Given the description of an element on the screen output the (x, y) to click on. 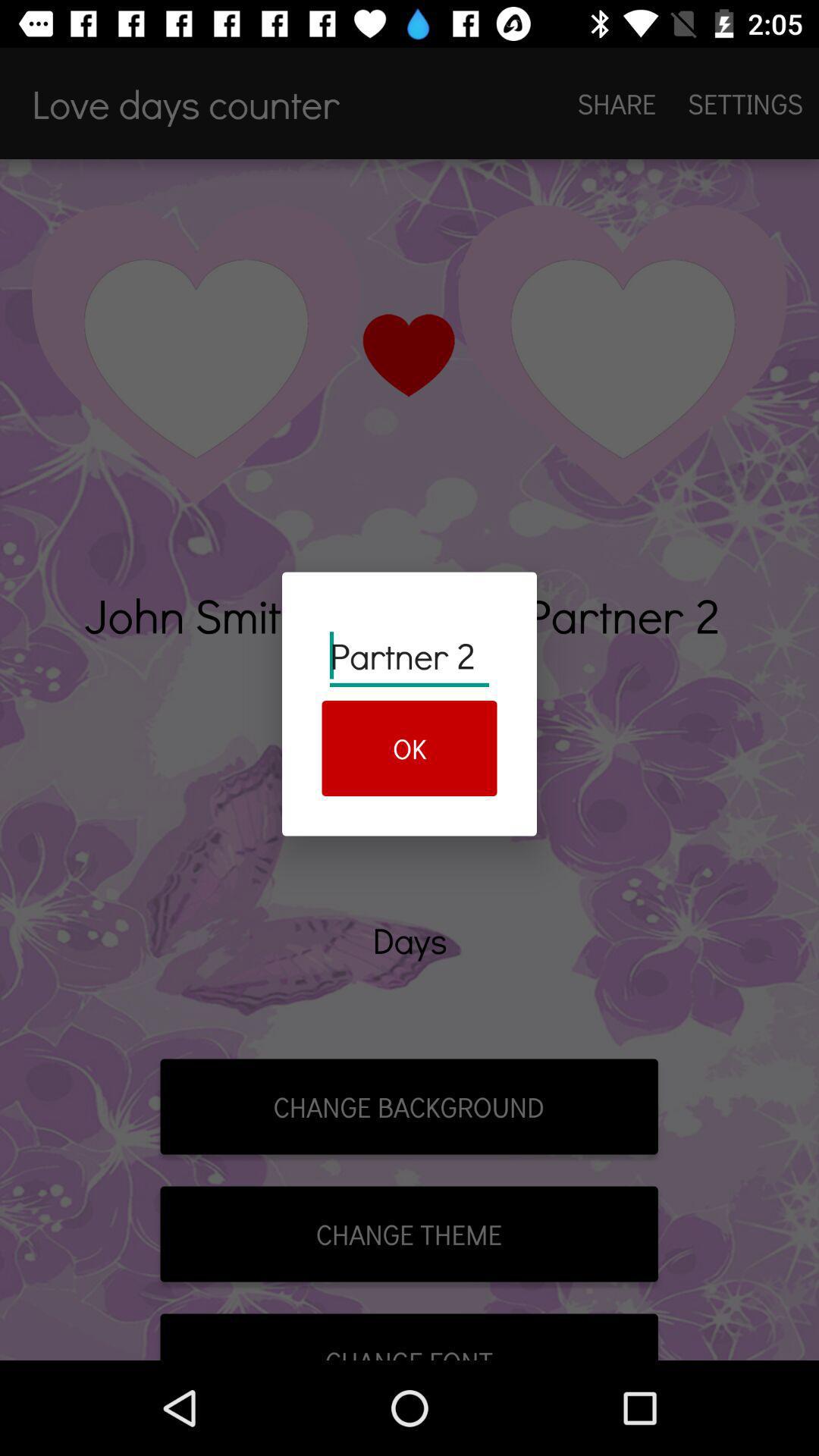
turn on the item above the ok icon (409, 655)
